Given the description of an element on the screen output the (x, y) to click on. 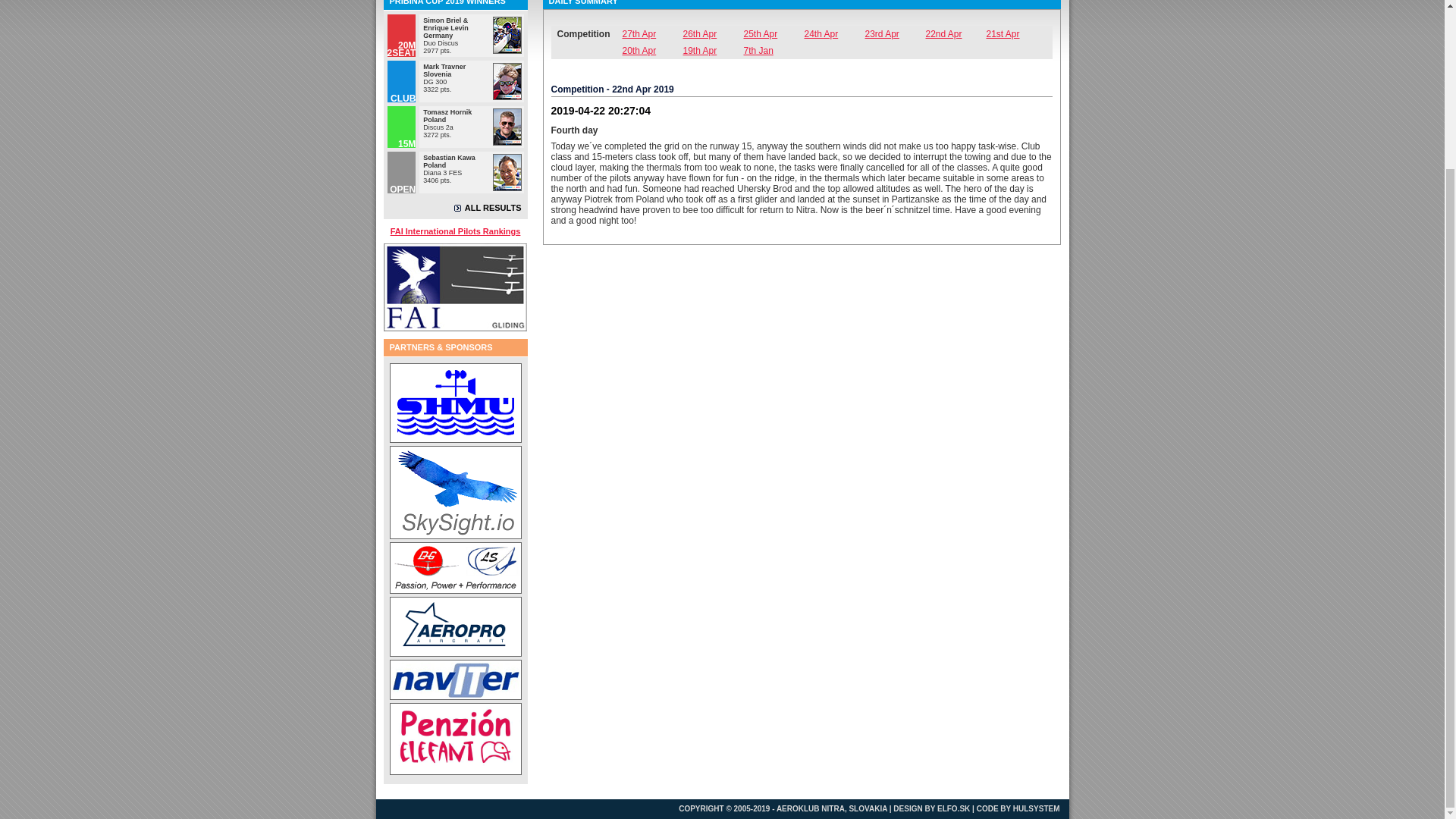
27th Apr (651, 33)
22nd Apr (954, 33)
23rd Apr (894, 33)
FAI International Pilots Rankings (455, 230)
21st Apr (1015, 33)
www.naviter.com (454, 679)
20th Apr (651, 50)
26th Apr (712, 33)
24th Apr (833, 33)
www.penzionelefant.sk (454, 738)
19th Apr (712, 50)
www.skysight.io (454, 492)
ALL RESULTS (487, 207)
www.dg-flugzeugbau.de (454, 567)
www.aeropro.sk (454, 626)
